Given the description of an element on the screen output the (x, y) to click on. 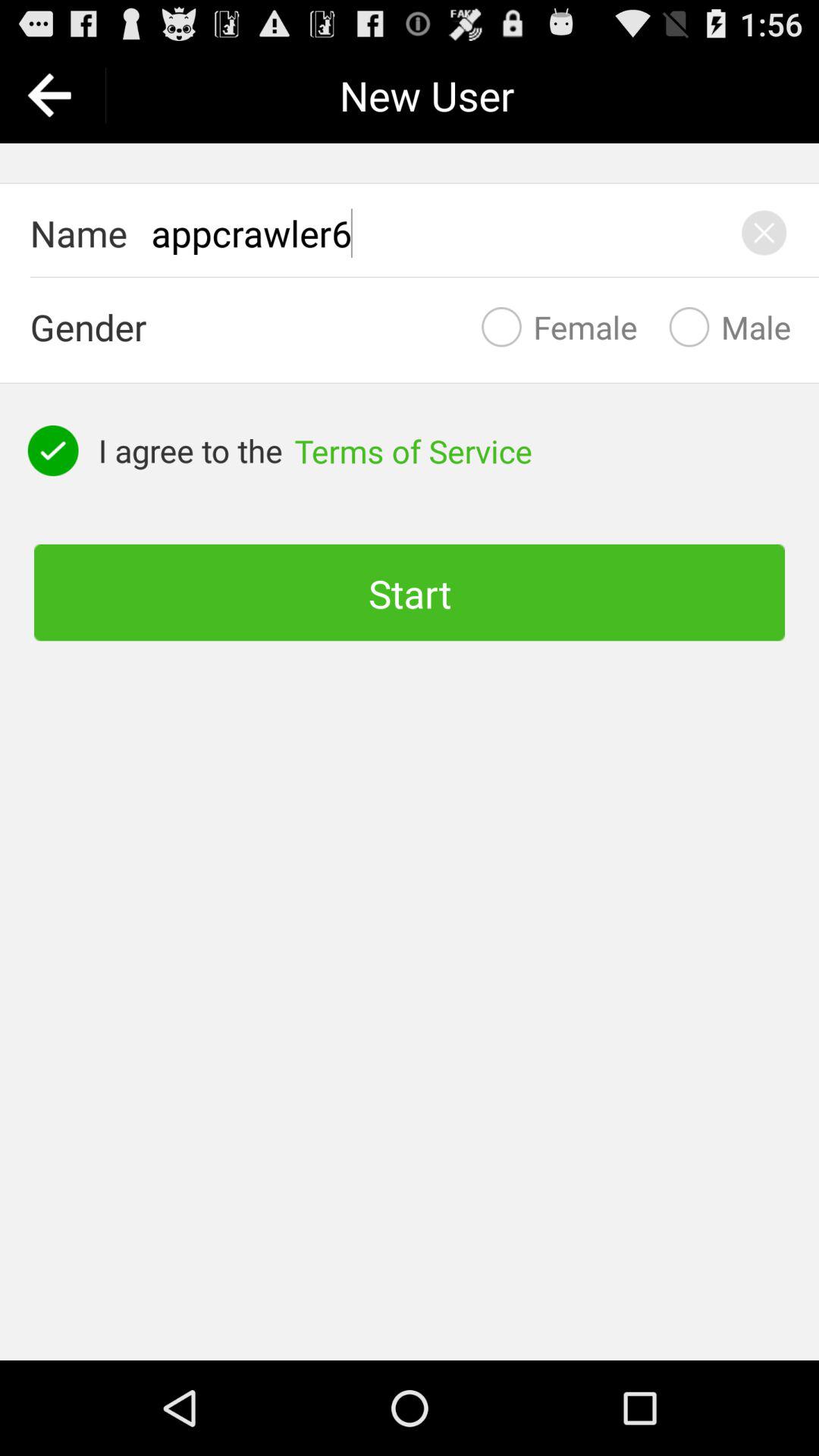
clears entered text (764, 233)
